Given the description of an element on the screen output the (x, y) to click on. 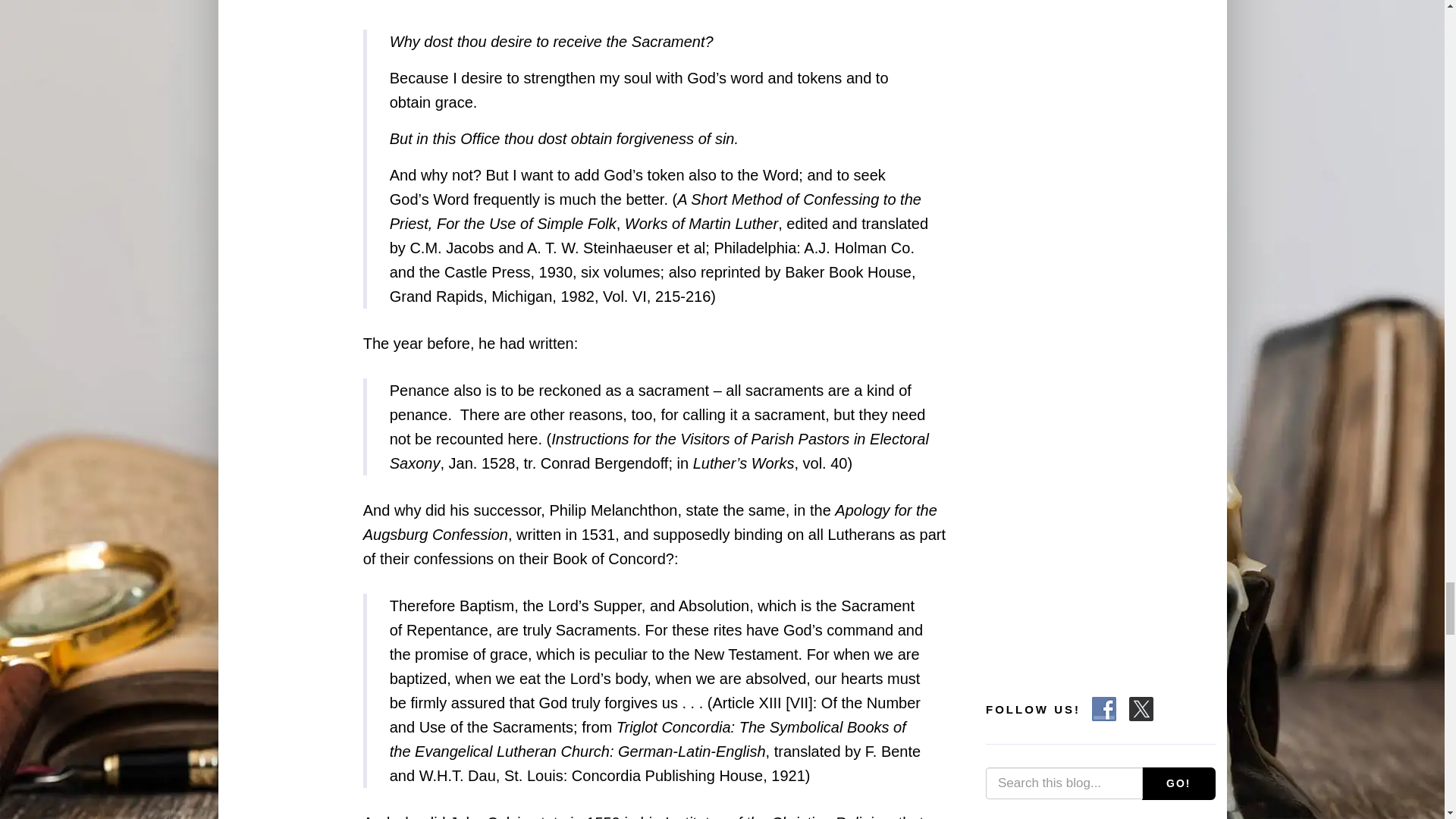
Follow Us on Facebook (1104, 708)
Follow Us on Twitter (1141, 708)
Go! (1177, 783)
